Given the description of an element on the screen output the (x, y) to click on. 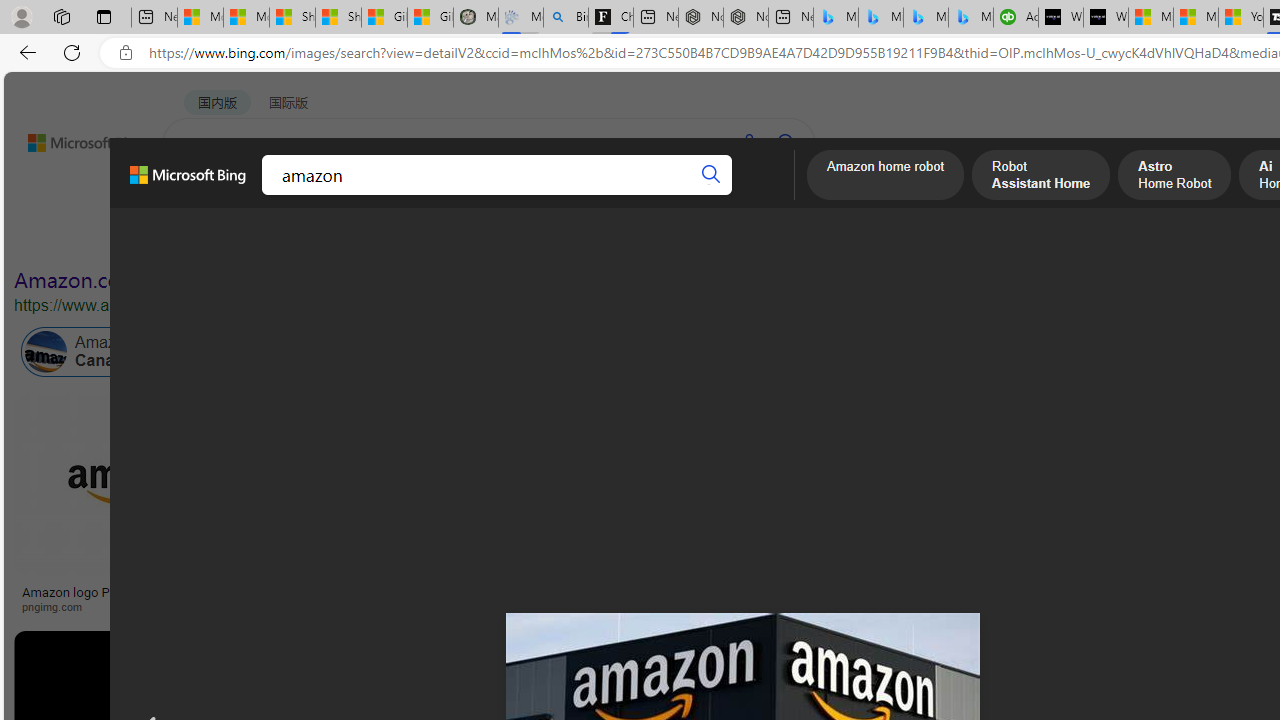
View site information (125, 53)
Amazon Animals (706, 351)
Date (591, 237)
Amazon Cloud (606, 351)
License (664, 237)
VIDEOS (458, 195)
VIDEOS (458, 195)
usatoday.com (587, 605)
Amazon Logo Png Hd Wallpaper | Images and Photos finder (982, 598)
Shanghai, China weather forecast | Microsoft Weather (338, 17)
Image size (221, 237)
Type (373, 237)
